Given the description of an element on the screen output the (x, y) to click on. 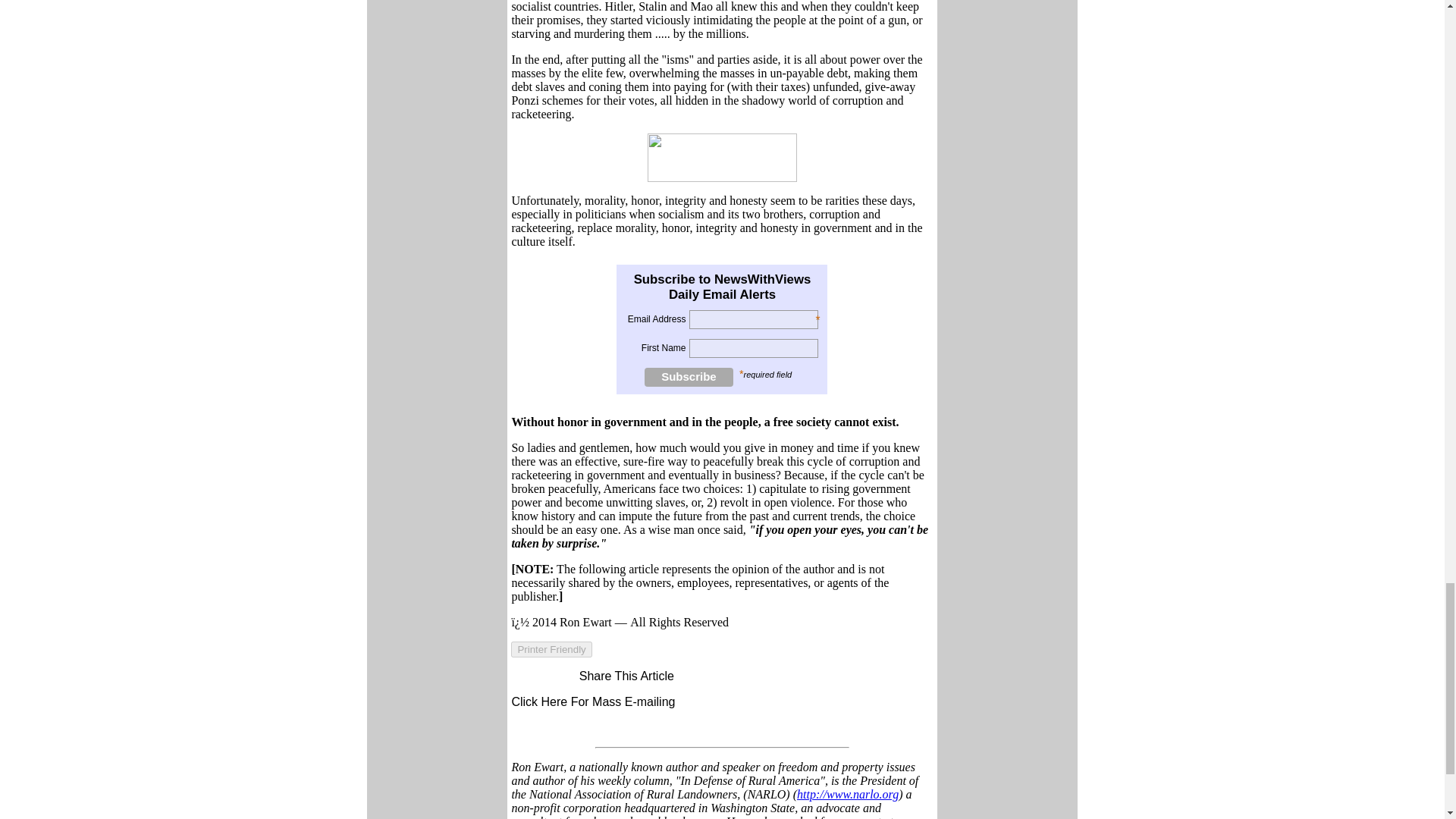
Subscribe (689, 376)
Share This Article (619, 675)
Printer Friendly (551, 649)
Click Here For Mass E-mailing (593, 701)
Subscribe (689, 376)
